Given the description of an element on the screen output the (x, y) to click on. 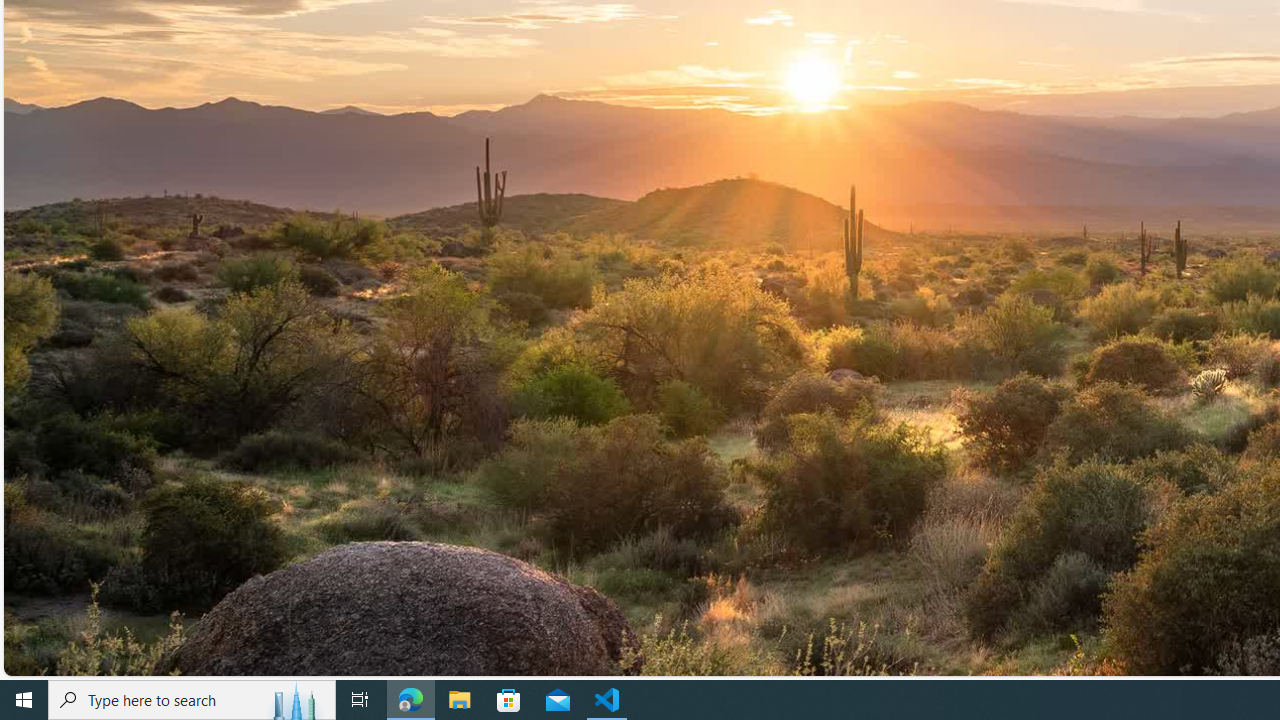
View comments 16 Comment (1241, 485)
28 Like (843, 170)
12 Like (531, 485)
463 Like (1157, 485)
View comments 16 Comment (1249, 485)
